Given the description of an element on the screen output the (x, y) to click on. 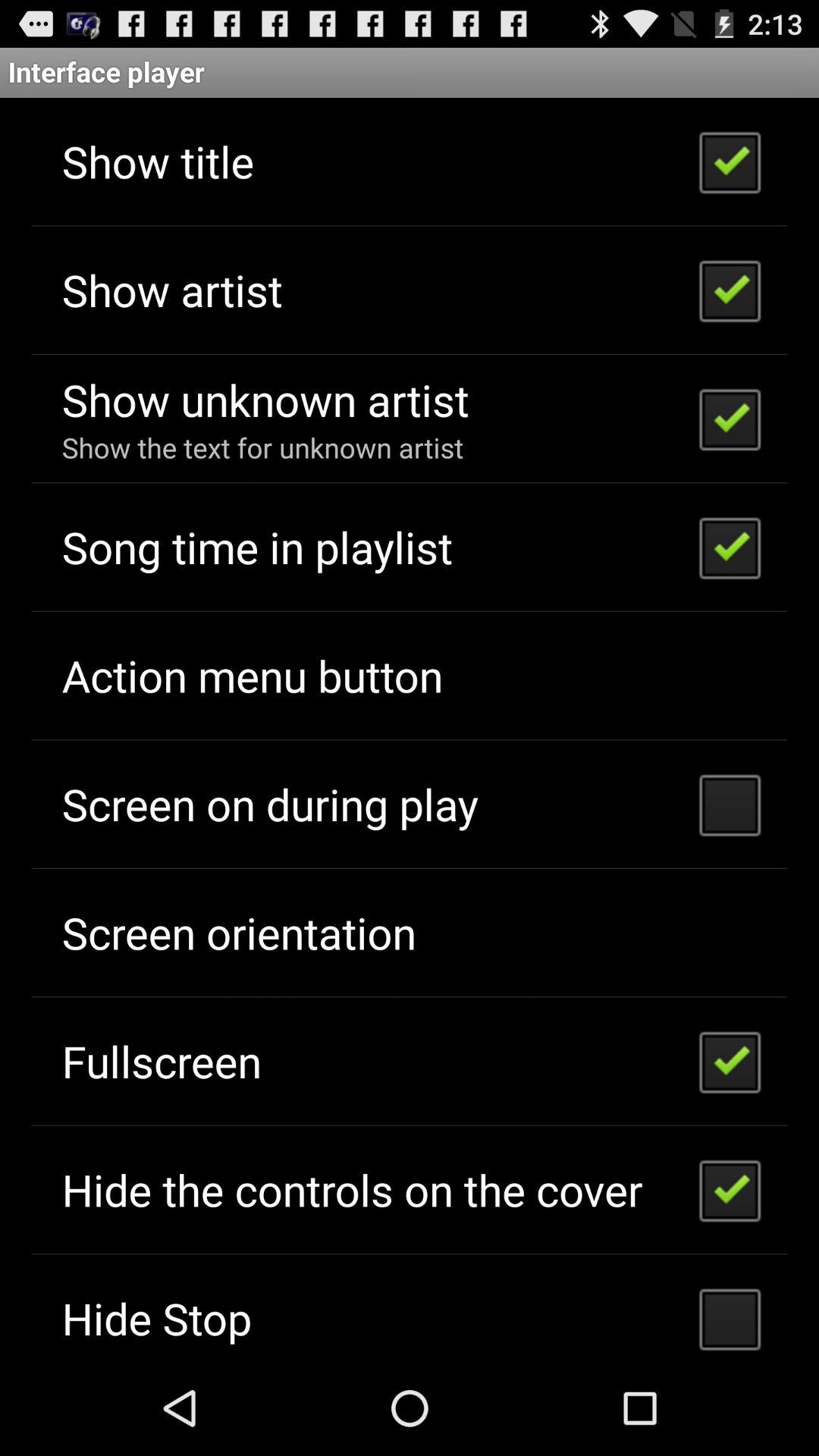
turn on the hide the controls (351, 1189)
